Given the description of an element on the screen output the (x, y) to click on. 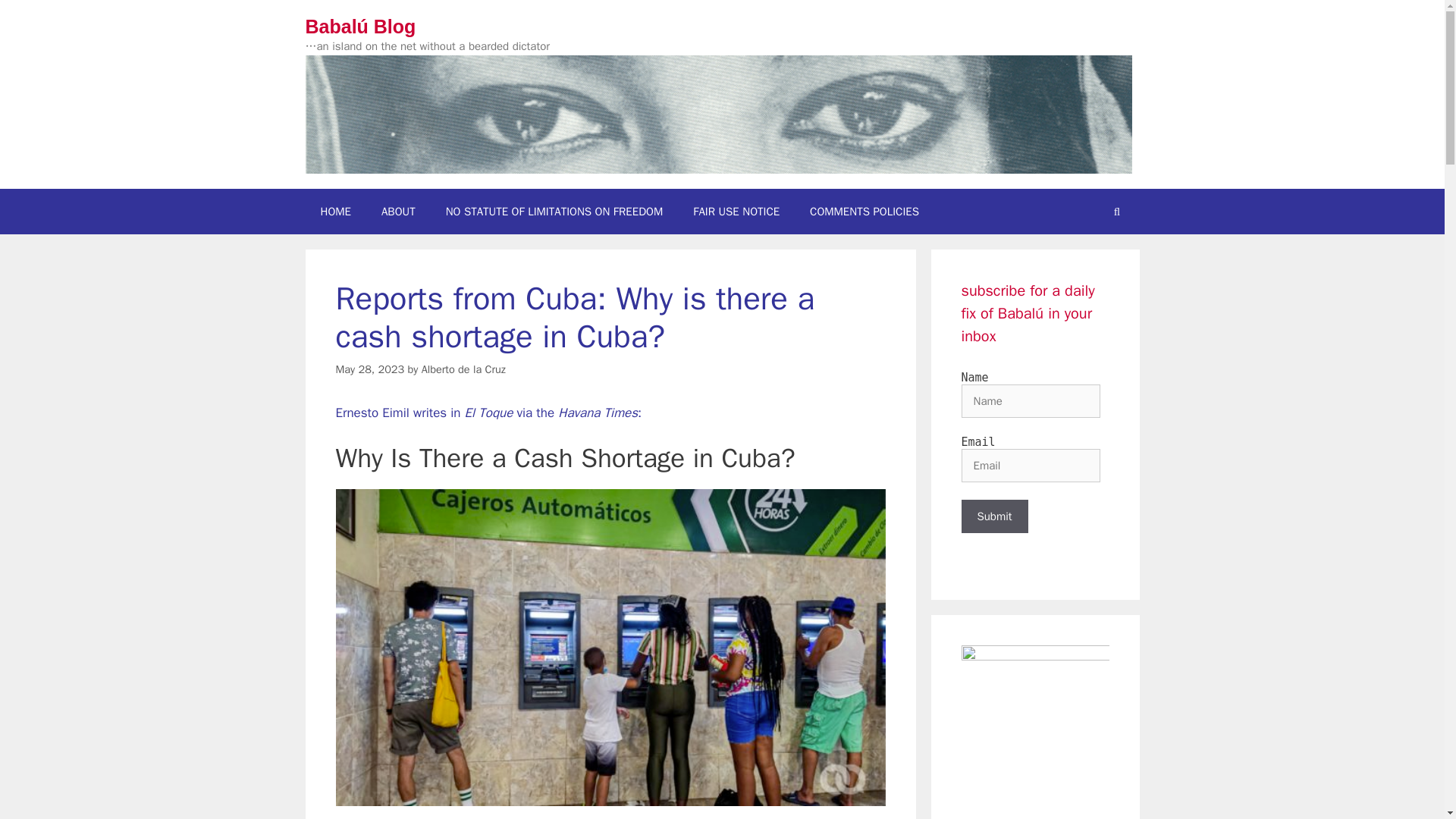
ABOUT (398, 210)
View all posts by Alberto de la Cruz (463, 368)
NO STATUTE OF LIMITATIONS ON FREEDOM (554, 210)
FAIR USE NOTICE (736, 210)
Submit (993, 515)
Alberto de la Cruz (463, 368)
COMMENTS POLICIES (864, 210)
Ernesto Eimil writes in El Toque via the Havana Times: (488, 412)
Submit (993, 515)
HOME (334, 210)
